Given the description of an element on the screen output the (x, y) to click on. 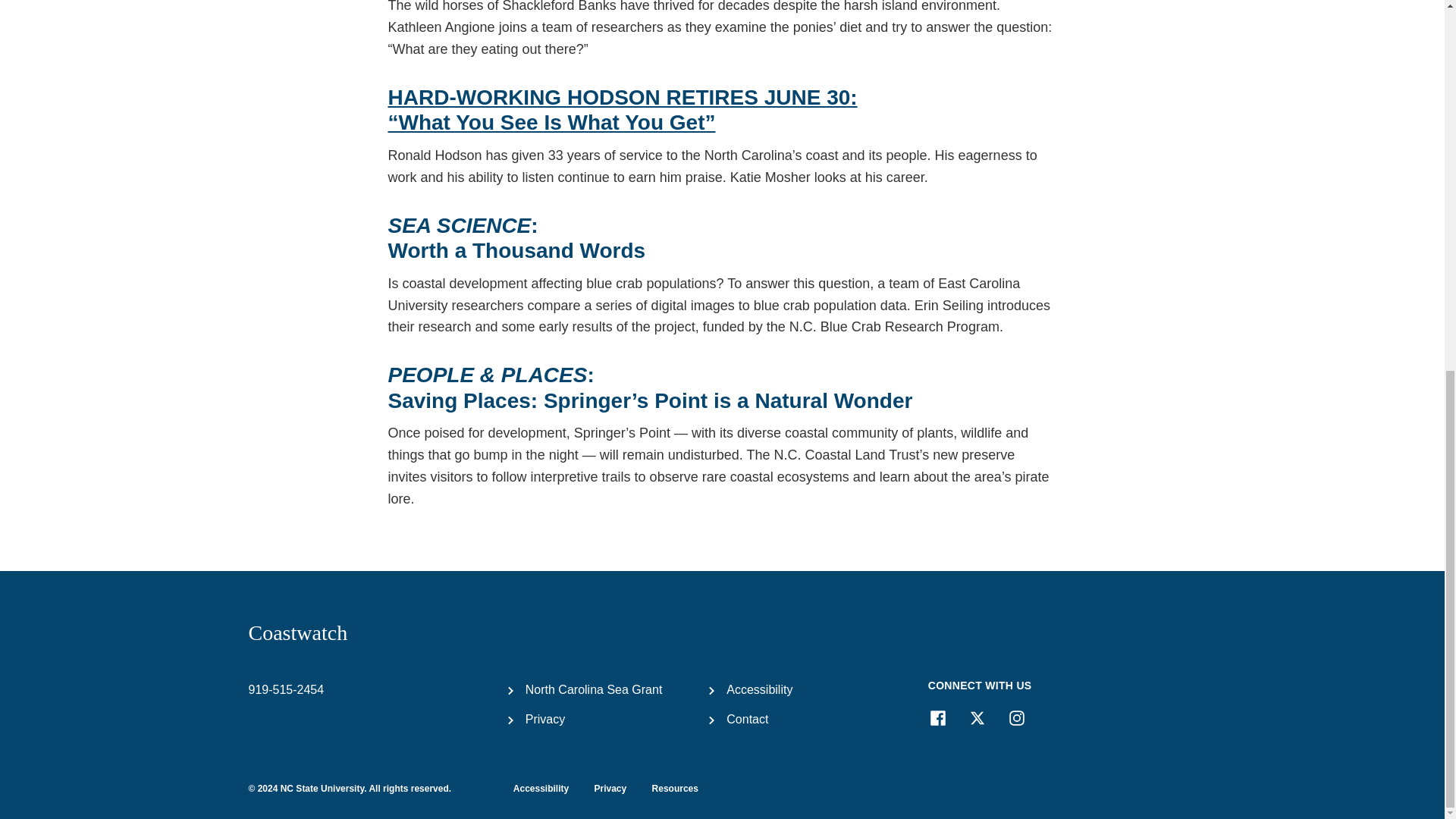
X (977, 718)
Facebook (937, 718)
Instagram (1016, 718)
